Given the description of an element on the screen output the (x, y) to click on. 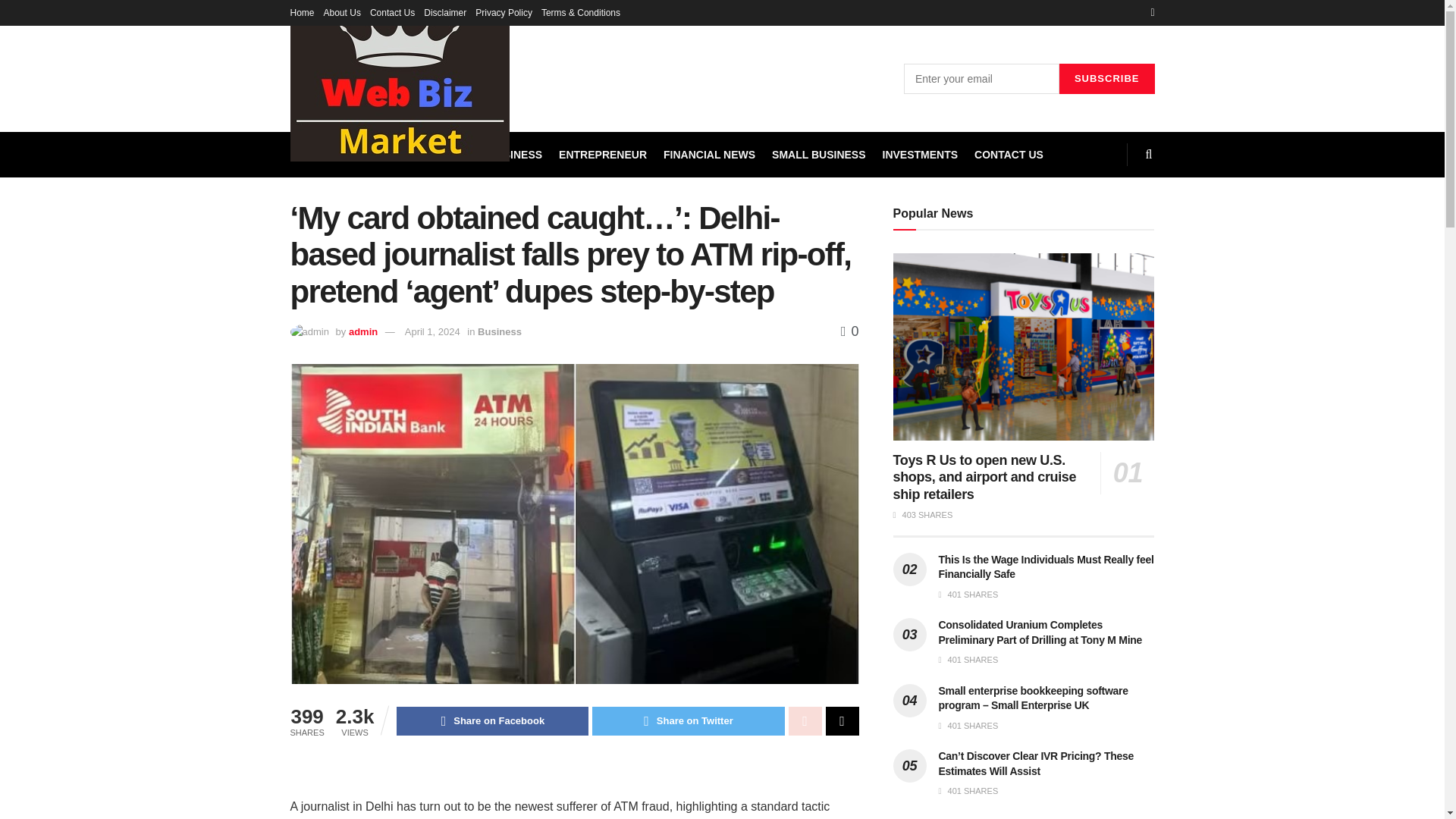
Disclaimer (444, 12)
Subscribe (1106, 78)
April 1, 2024 (432, 331)
ENTREPRENEUR (602, 154)
DIGEST X (446, 154)
admin (363, 331)
SMALL BUSINESS (817, 154)
0 (850, 331)
FINANCIAL NEWS (709, 154)
Privacy Policy (504, 12)
